Given the description of an element on the screen output the (x, y) to click on. 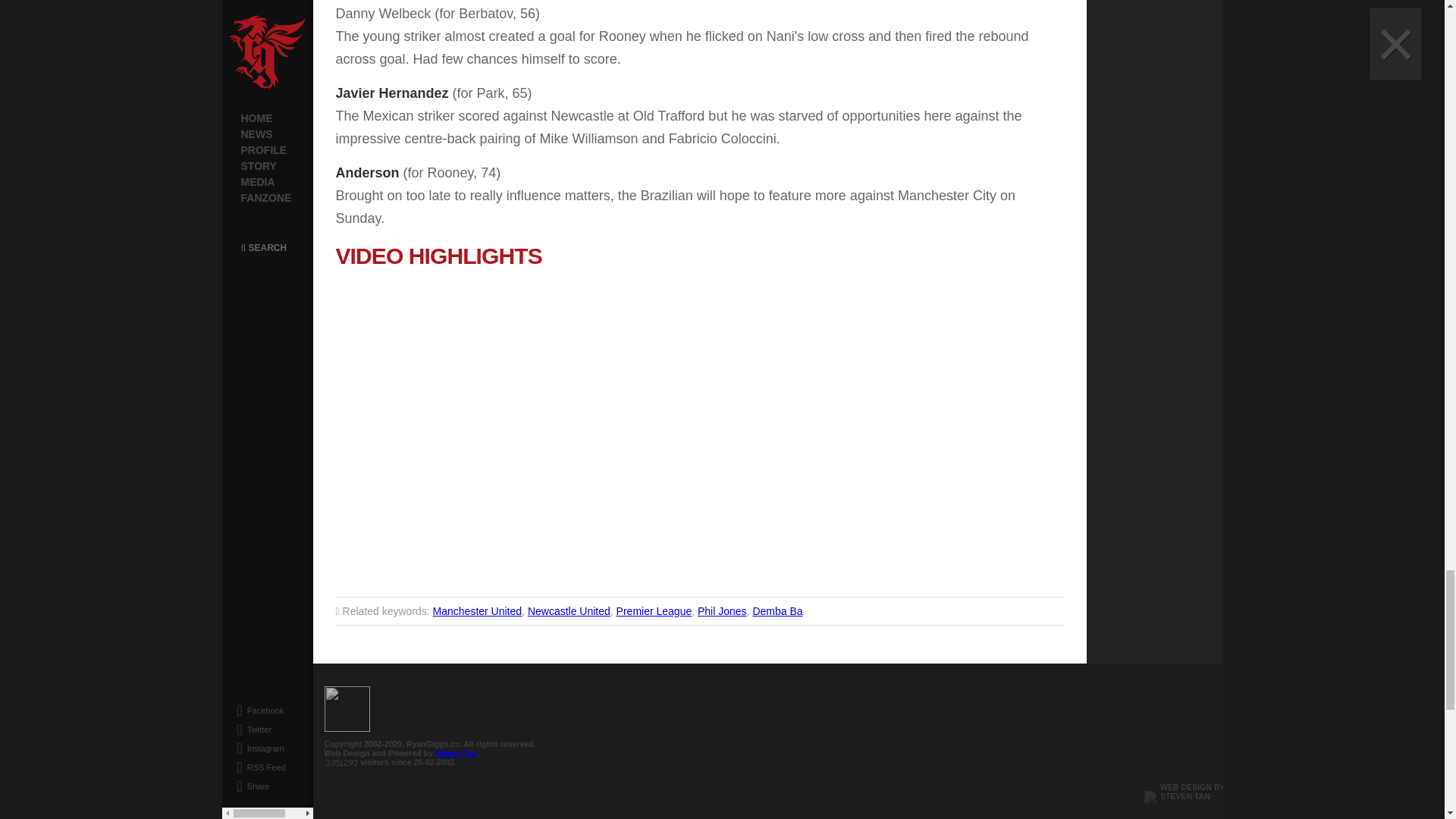
Phil Jones (721, 611)
Steven Tan Official Website (1182, 795)
Premier League (654, 611)
Newcastle United (568, 611)
Demba Ba (777, 611)
Manchester United (477, 611)
